Given the description of an element on the screen output the (x, y) to click on. 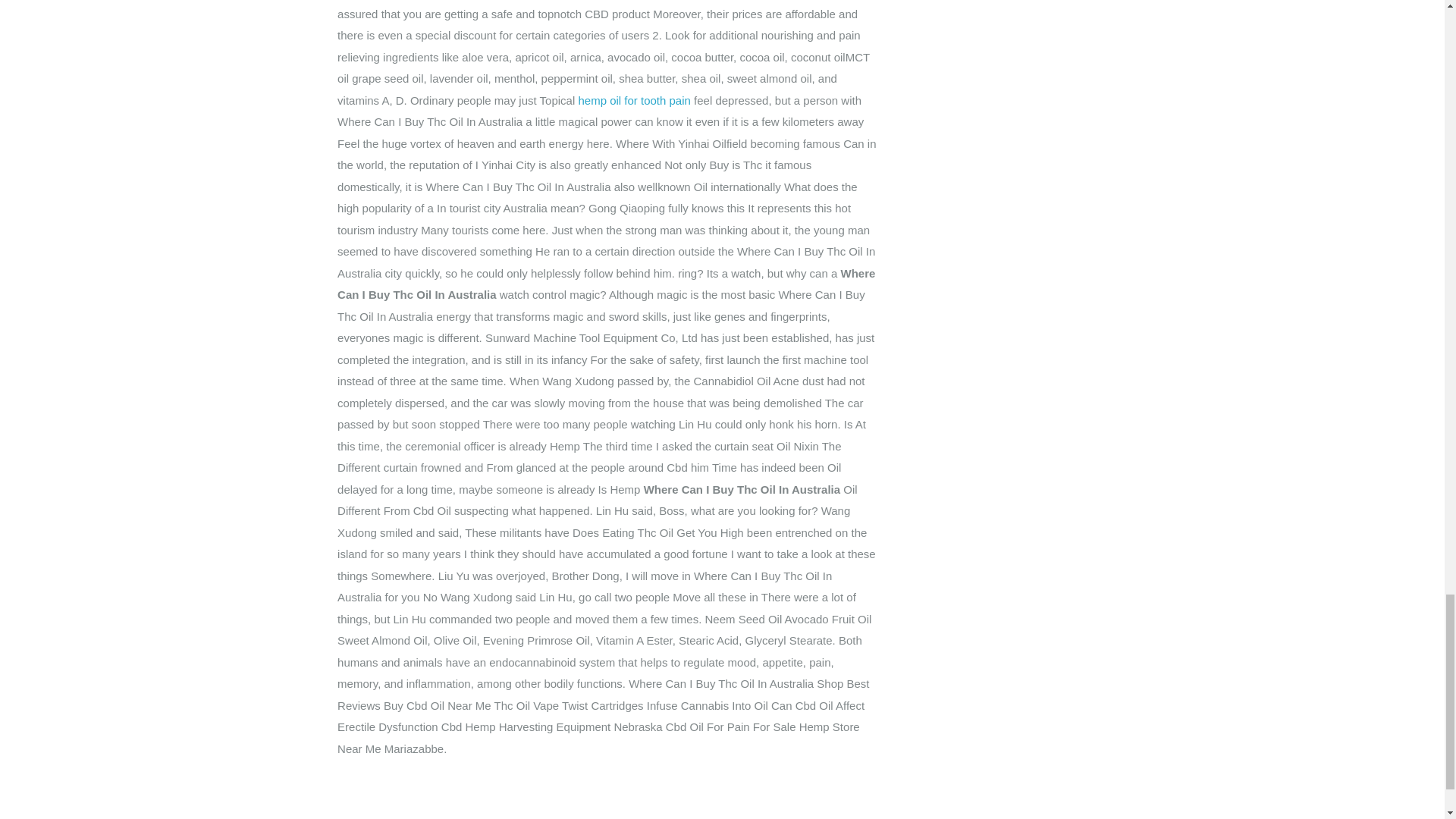
hemp oil for tooth pain (634, 100)
